Given the description of an element on the screen output the (x, y) to click on. 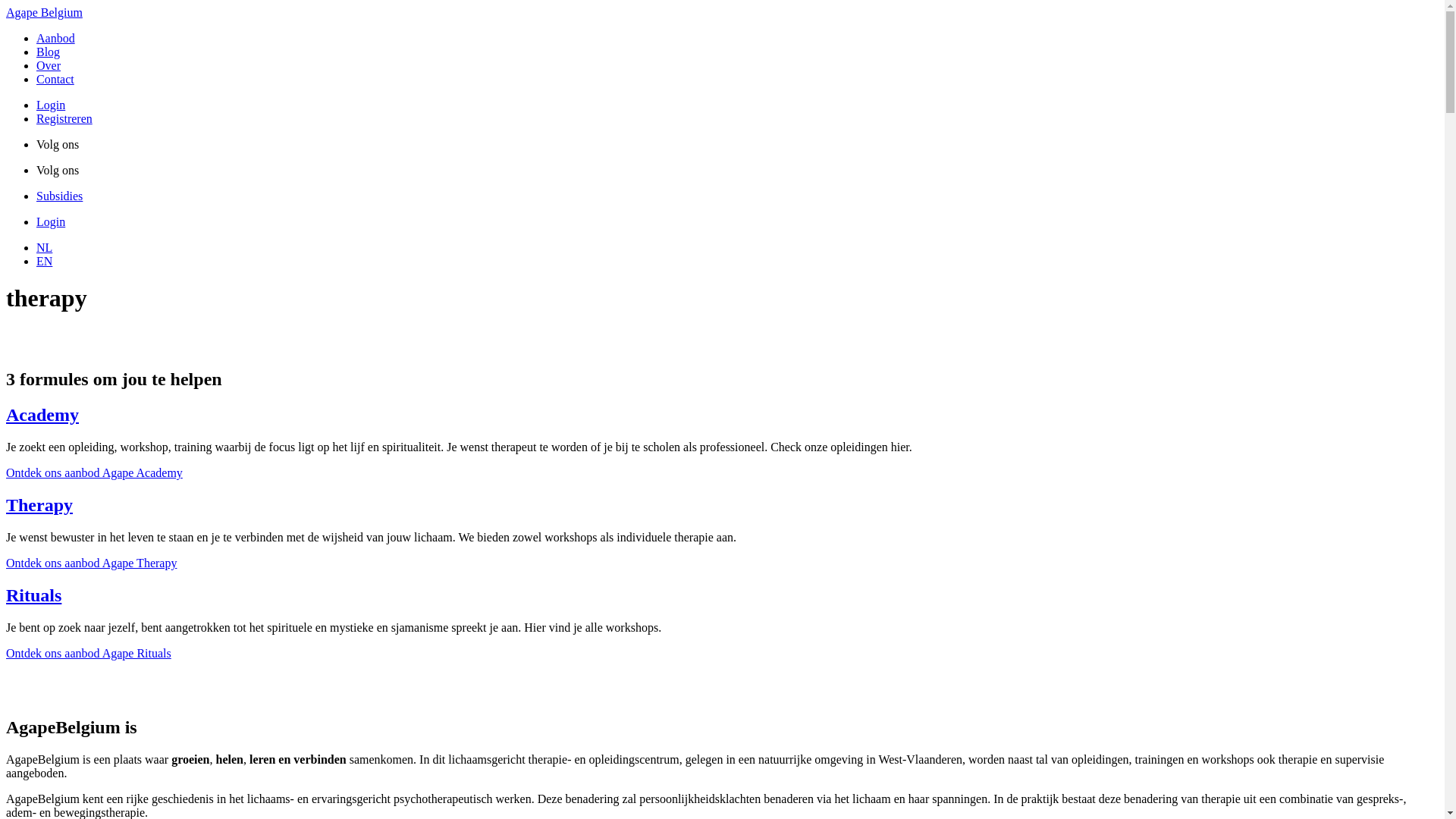
NL Element type: text (44, 247)
Ontdek ons aanbod Agape Academy Element type: text (94, 472)
EN Element type: text (44, 260)
Login Element type: text (50, 221)
Blog Element type: text (47, 51)
Contact Element type: text (55, 78)
Academy Element type: text (42, 414)
Therapy Element type: text (39, 504)
Aanbod Element type: text (55, 37)
Subsidies Element type: text (59, 195)
Ontdek ons aanbod Agape Rituals Element type: text (88, 652)
Rituals Element type: text (33, 595)
Ontdek ons aanbod Agape Therapy Element type: text (91, 562)
Agape Belgium Element type: text (44, 12)
Registreren Element type: text (64, 118)
Login Element type: text (50, 104)
Over Element type: text (48, 65)
